Given the description of an element on the screen output the (x, y) to click on. 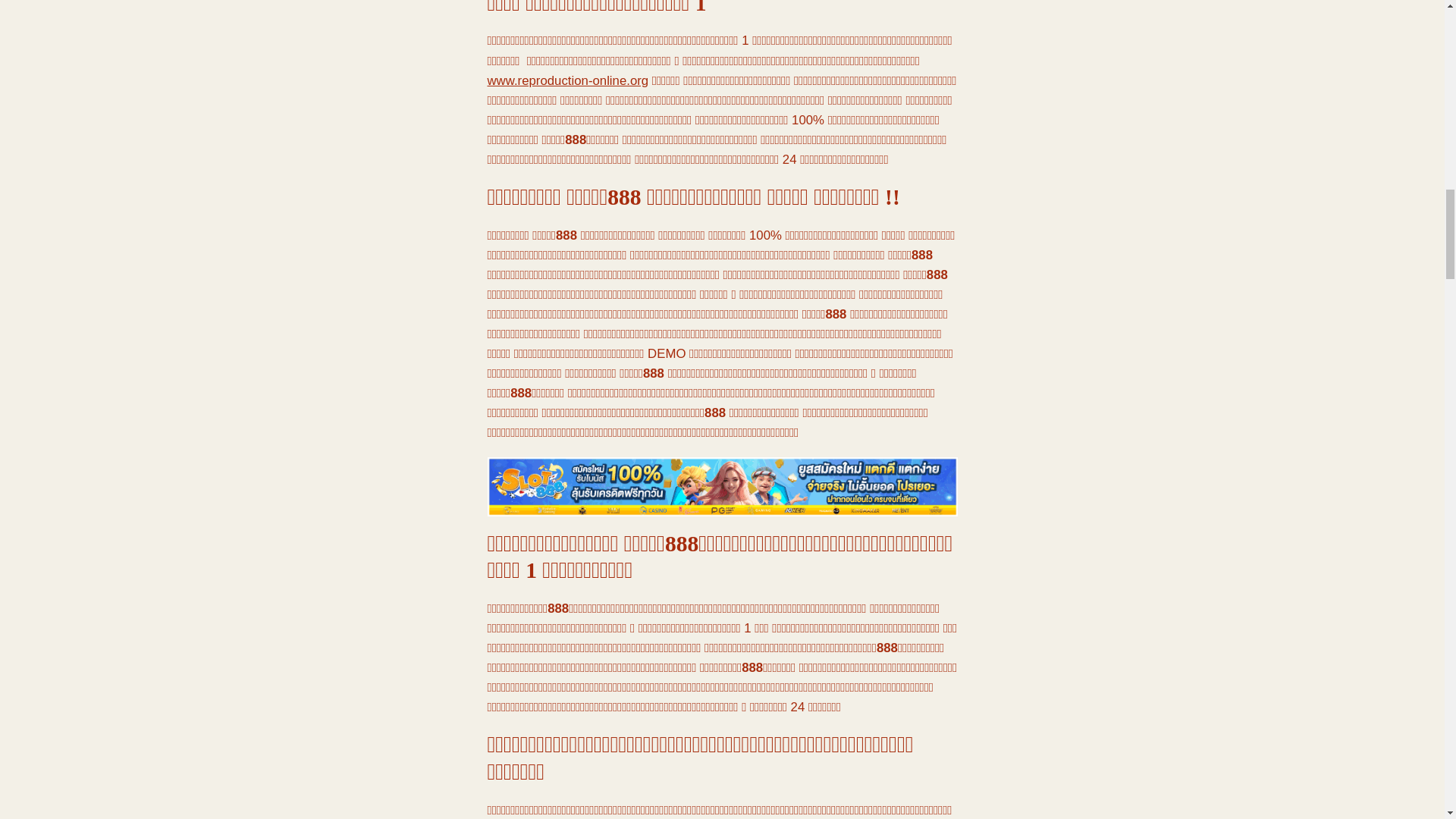
www.reproduction-online.org (566, 80)
